Given the description of an element on the screen output the (x, y) to click on. 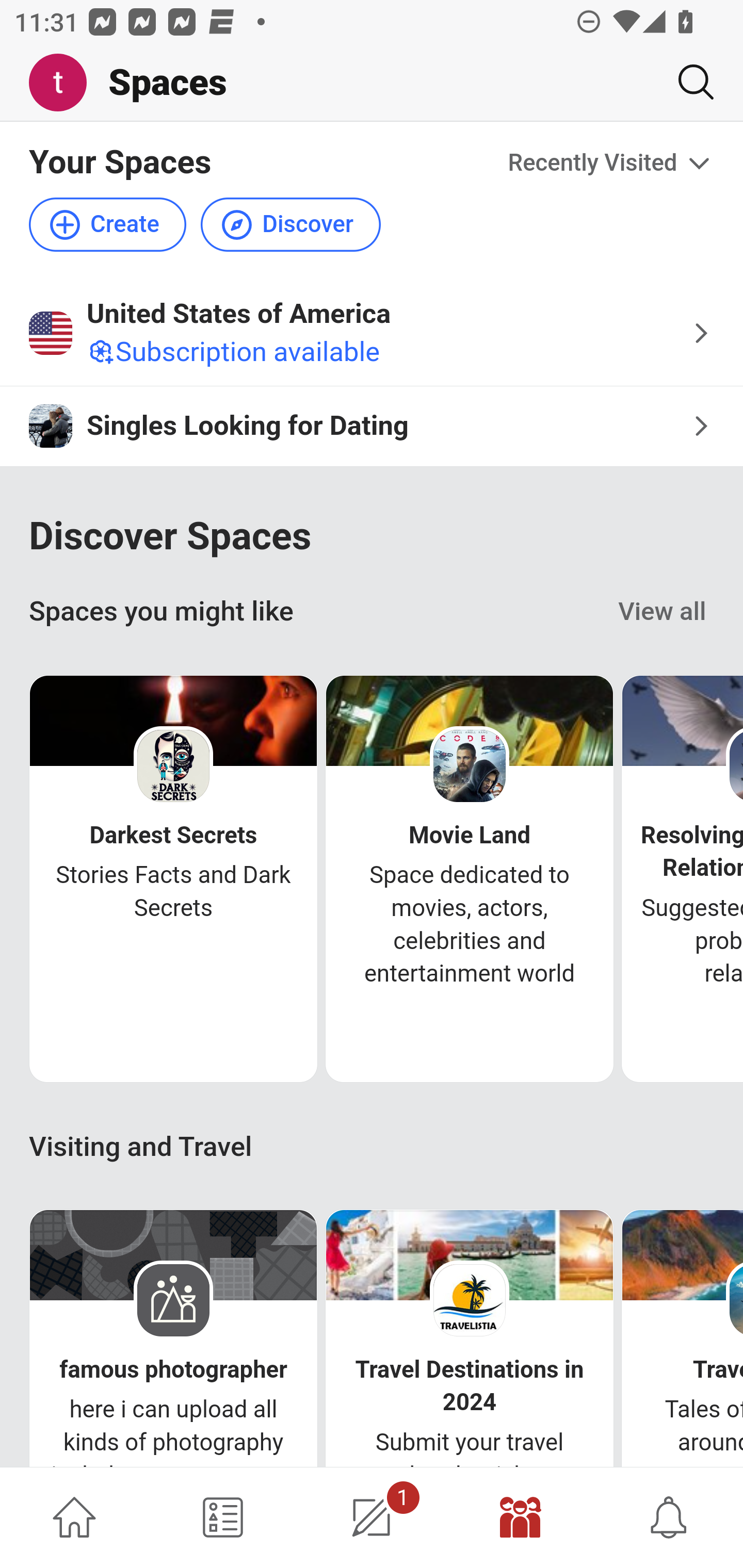
Me (64, 83)
Search (688, 82)
Recently Visited (610, 162)
Create (107, 224)
Discover (289, 224)
View all (662, 611)
Darkest Secrets (172, 835)
Movie Land (469, 835)
famous photographer (173, 1370)
Travel Destinations in 2024 (469, 1385)
1 (371, 1517)
